Given the description of an element on the screen output the (x, y) to click on. 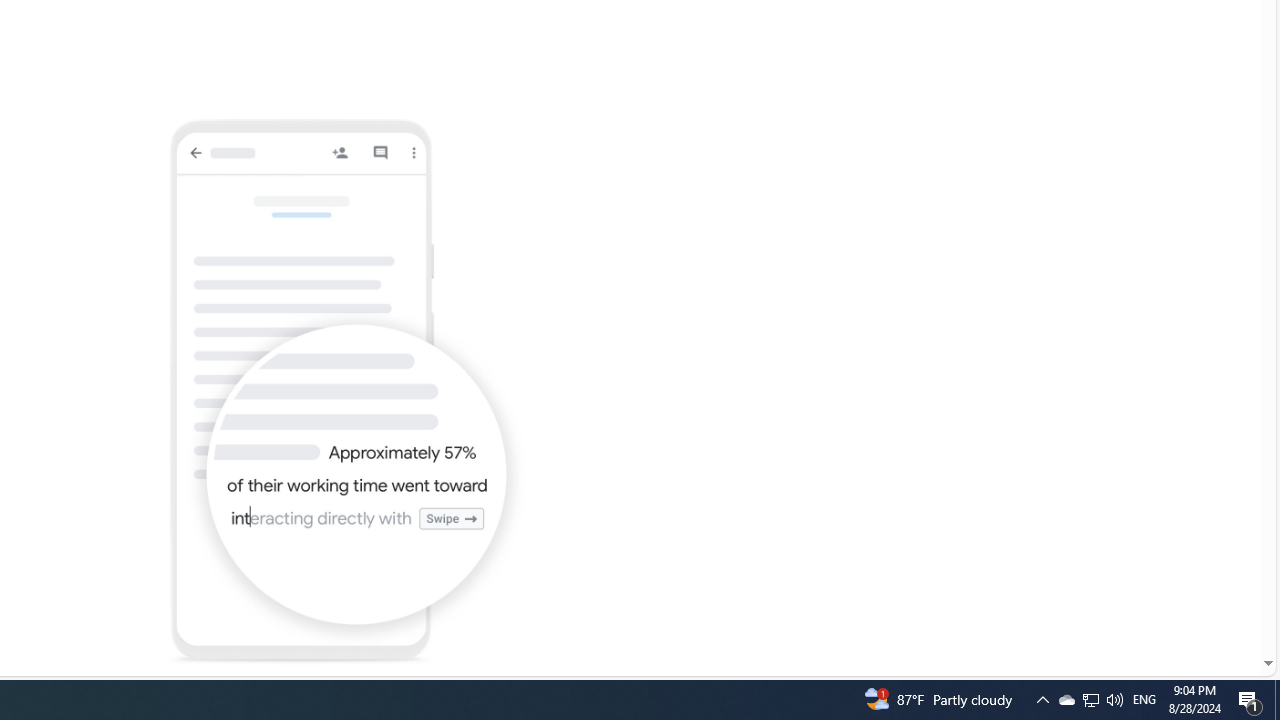
Docs write faster (346, 392)
